Given the description of an element on the screen output the (x, y) to click on. 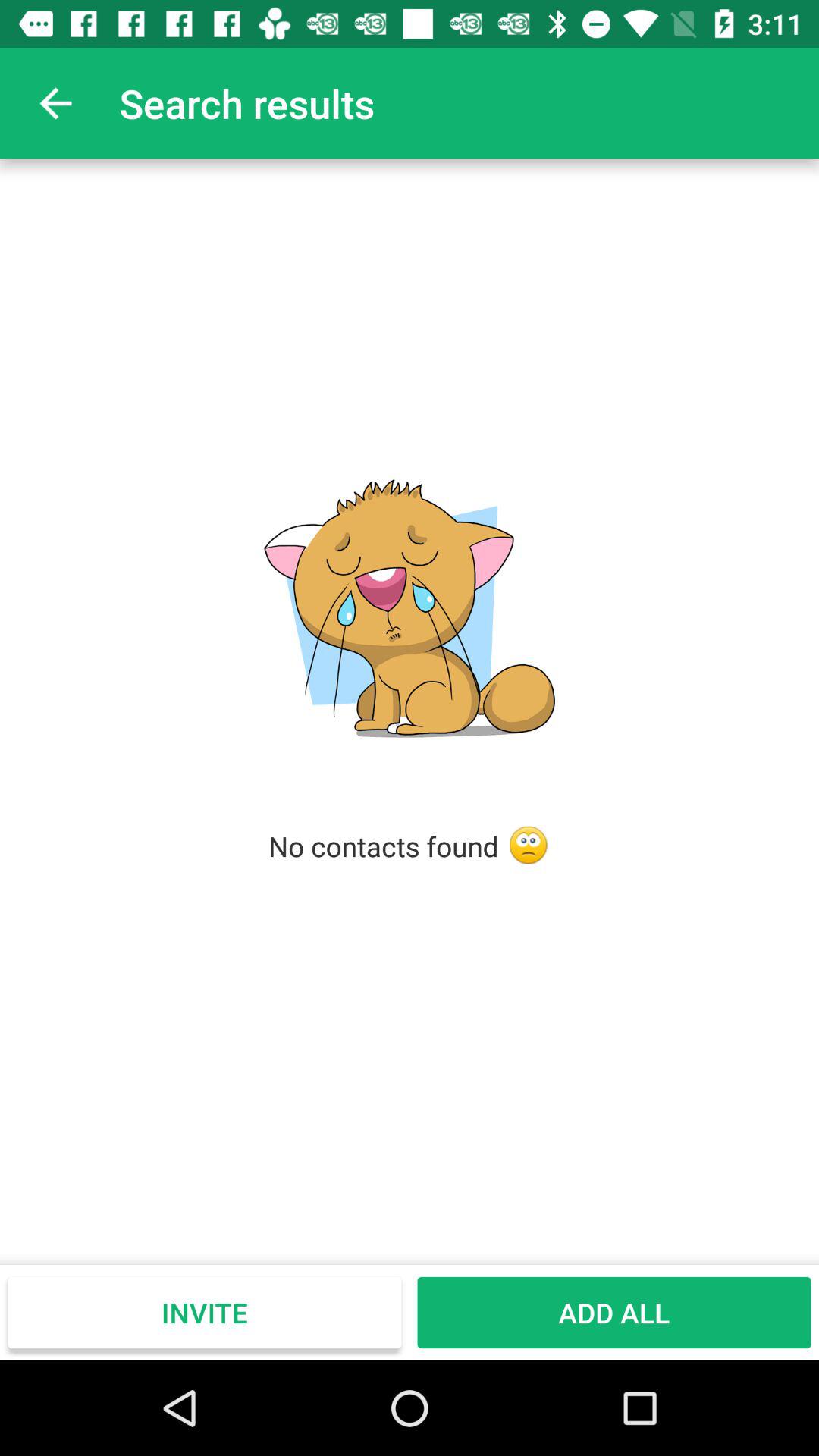
turn off the icon next to the invite icon (614, 1312)
